Given the description of an element on the screen output the (x, y) to click on. 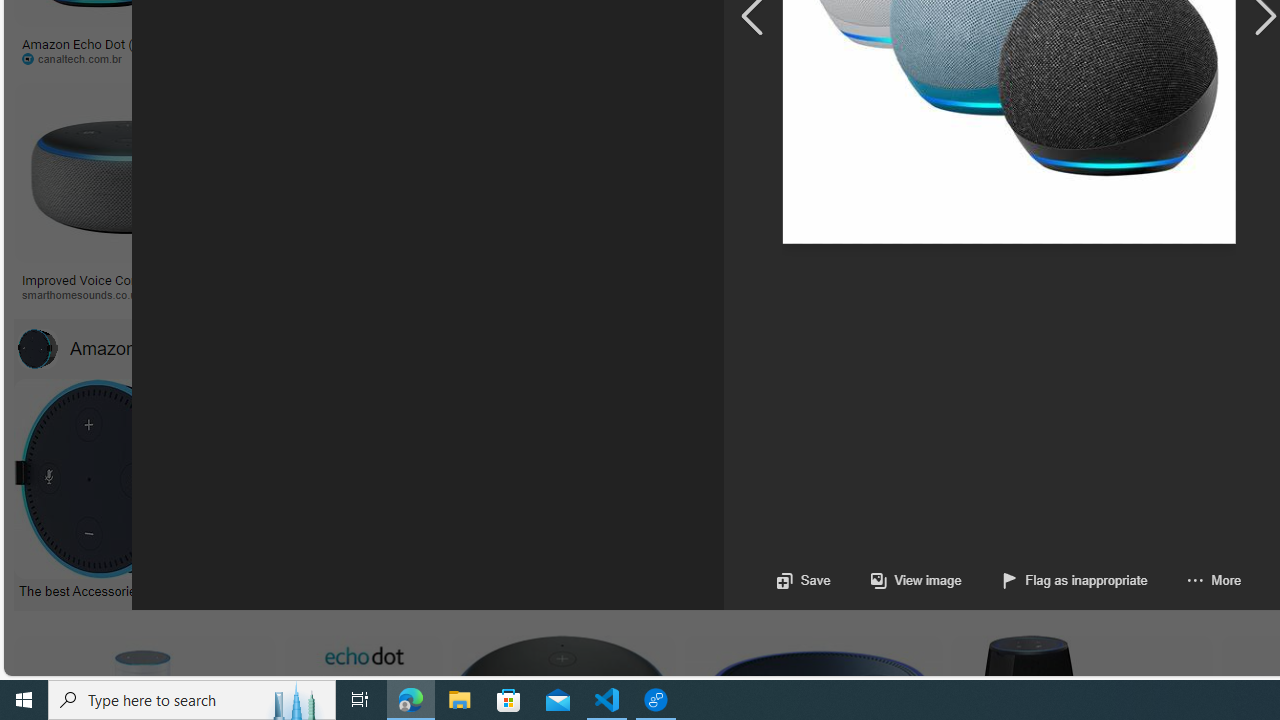
Image result for Amazon Echo Dot PNG (944, 172)
croma.com (816, 57)
canaltech.com.br (78, 57)
mediamarkt.de (945, 295)
security.org (294, 294)
